Given the description of an element on the screen output the (x, y) to click on. 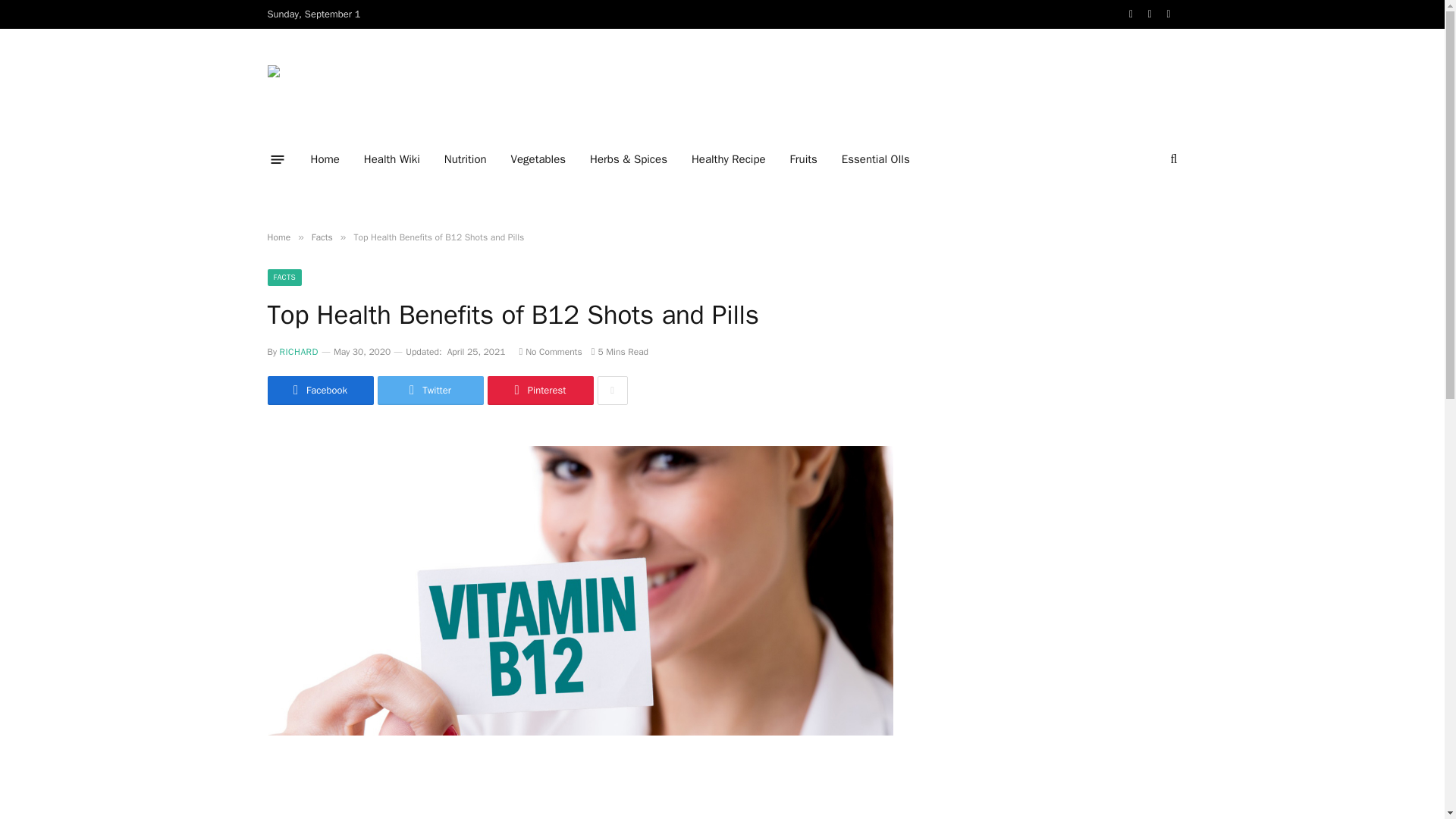
Show More Social Sharing (611, 389)
Twitter (430, 389)
Home (277, 236)
Health Benefits (359, 83)
Home (325, 159)
Share on Pinterest (539, 389)
Pinterest (539, 389)
Nutrition (465, 159)
Fruits (803, 159)
Vegetables (538, 159)
